Given the description of an element on the screen output the (x, y) to click on. 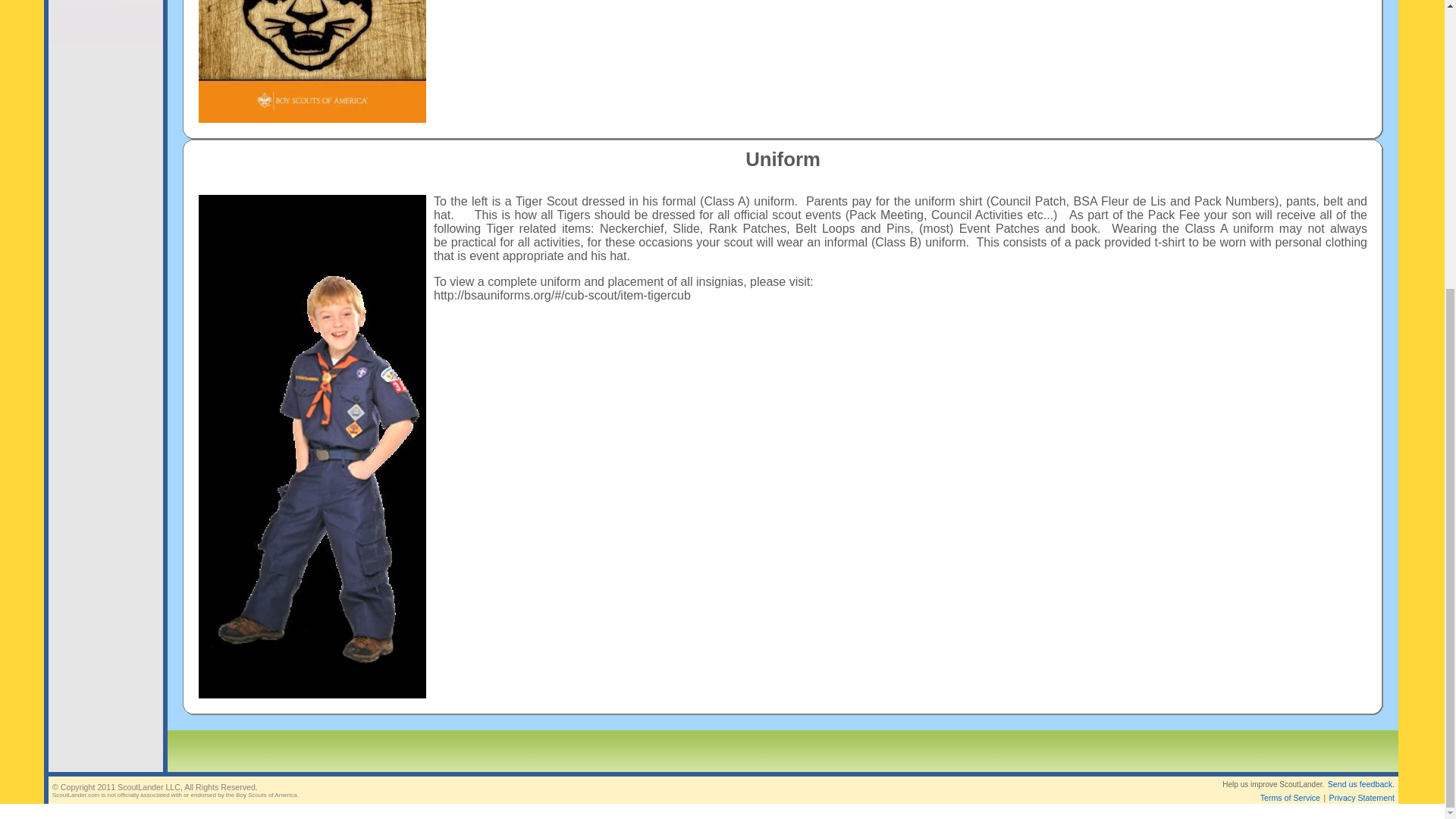
Privacy Statement (1361, 797)
Send us feedback. (1360, 783)
Resources (80, 1)
Terms of Service (1290, 797)
